Given the description of an element on the screen output the (x, y) to click on. 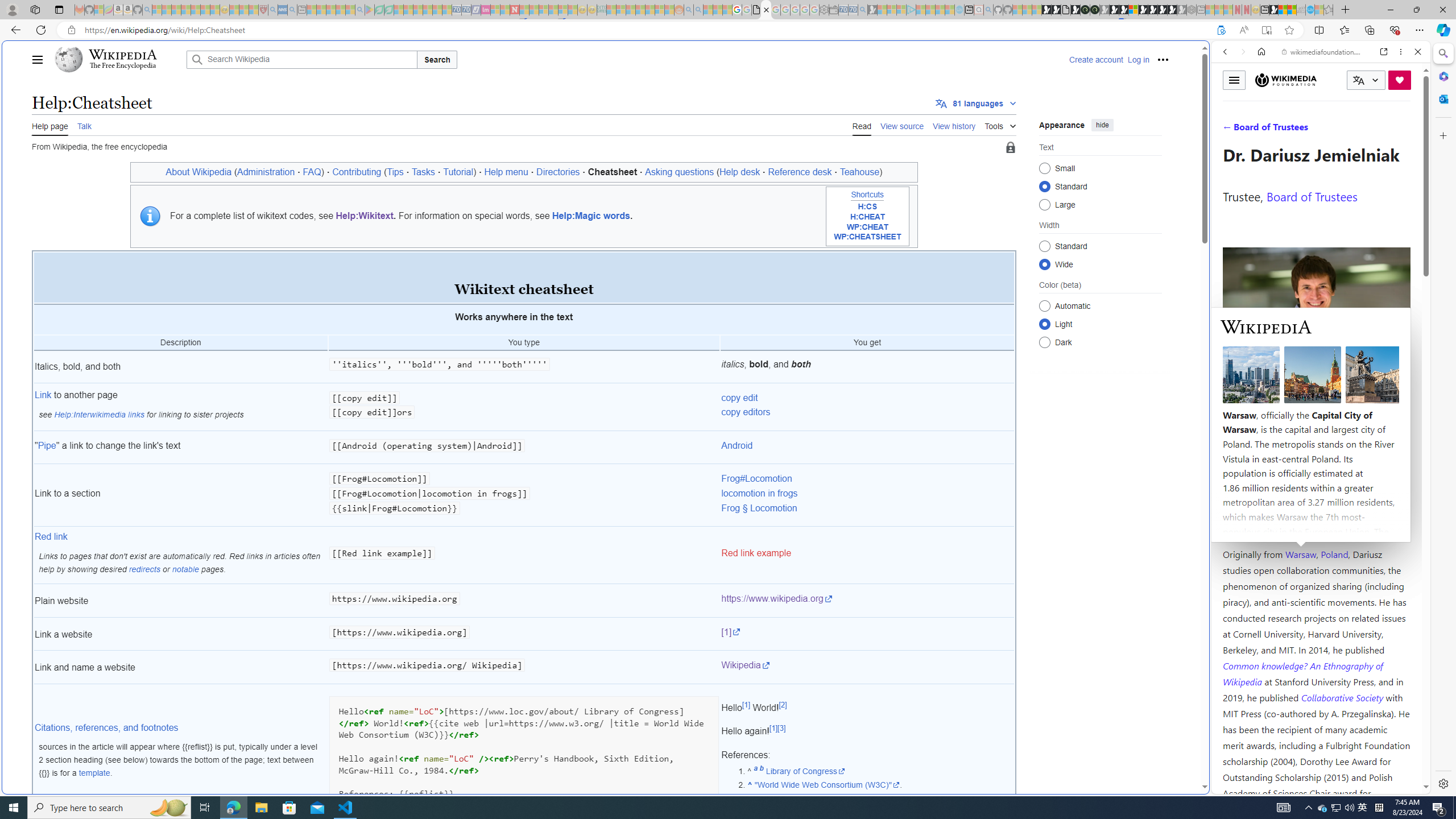
notable (185, 569)
FAQ (311, 172)
View history (954, 124)
copy edit (739, 397)
Harvard University (1259, 526)
Tutorial) (459, 172)
Wikimedia Foundation (1285, 79)
